Given the description of an element on the screen output the (x, y) to click on. 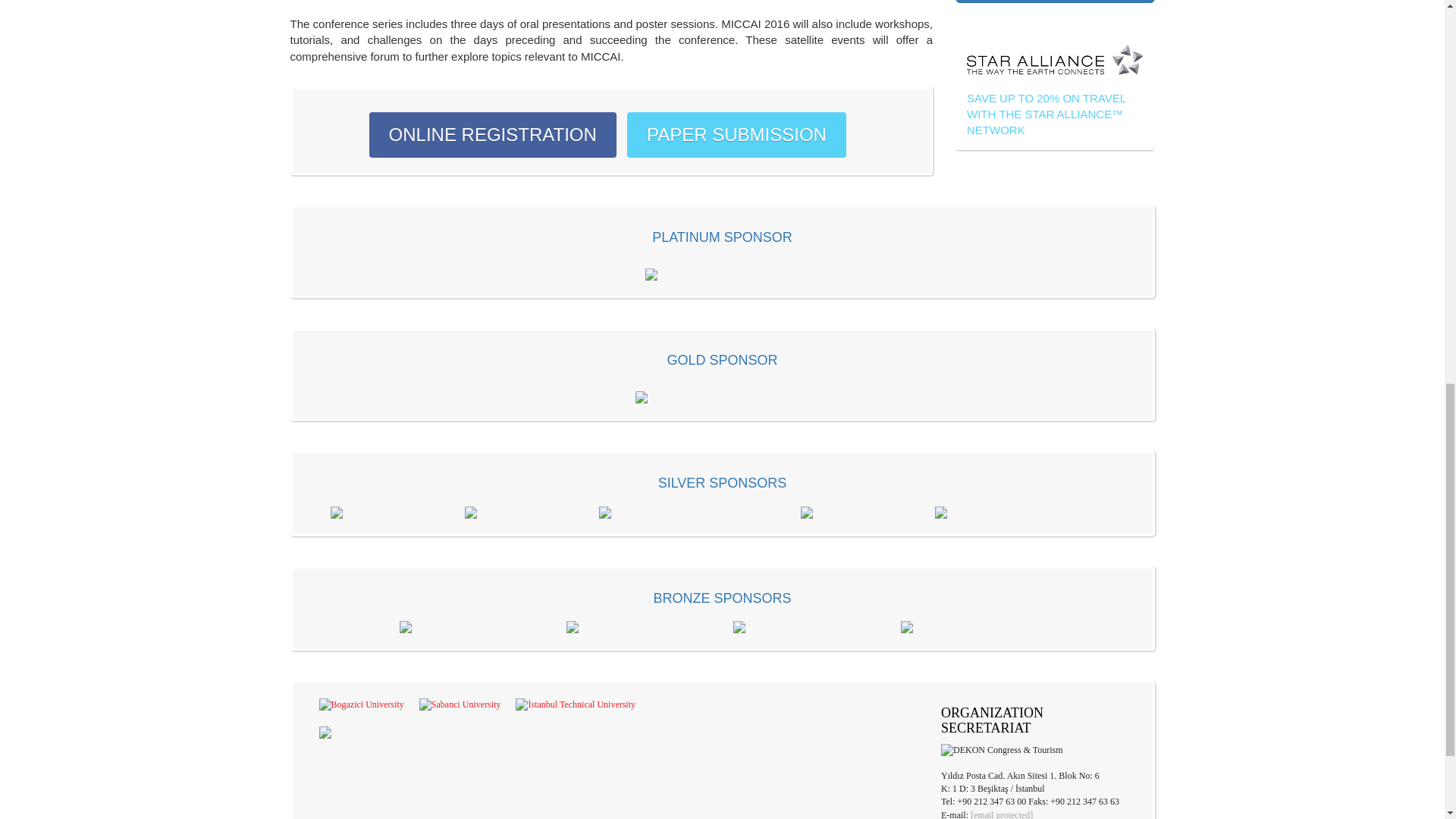
PAPER SUBMISSION (736, 135)
ONLINE REGISTRATION (492, 135)
PRESENTATION INSTRUCTIONS (1054, 1)
